Given the description of an element on the screen output the (x, y) to click on. 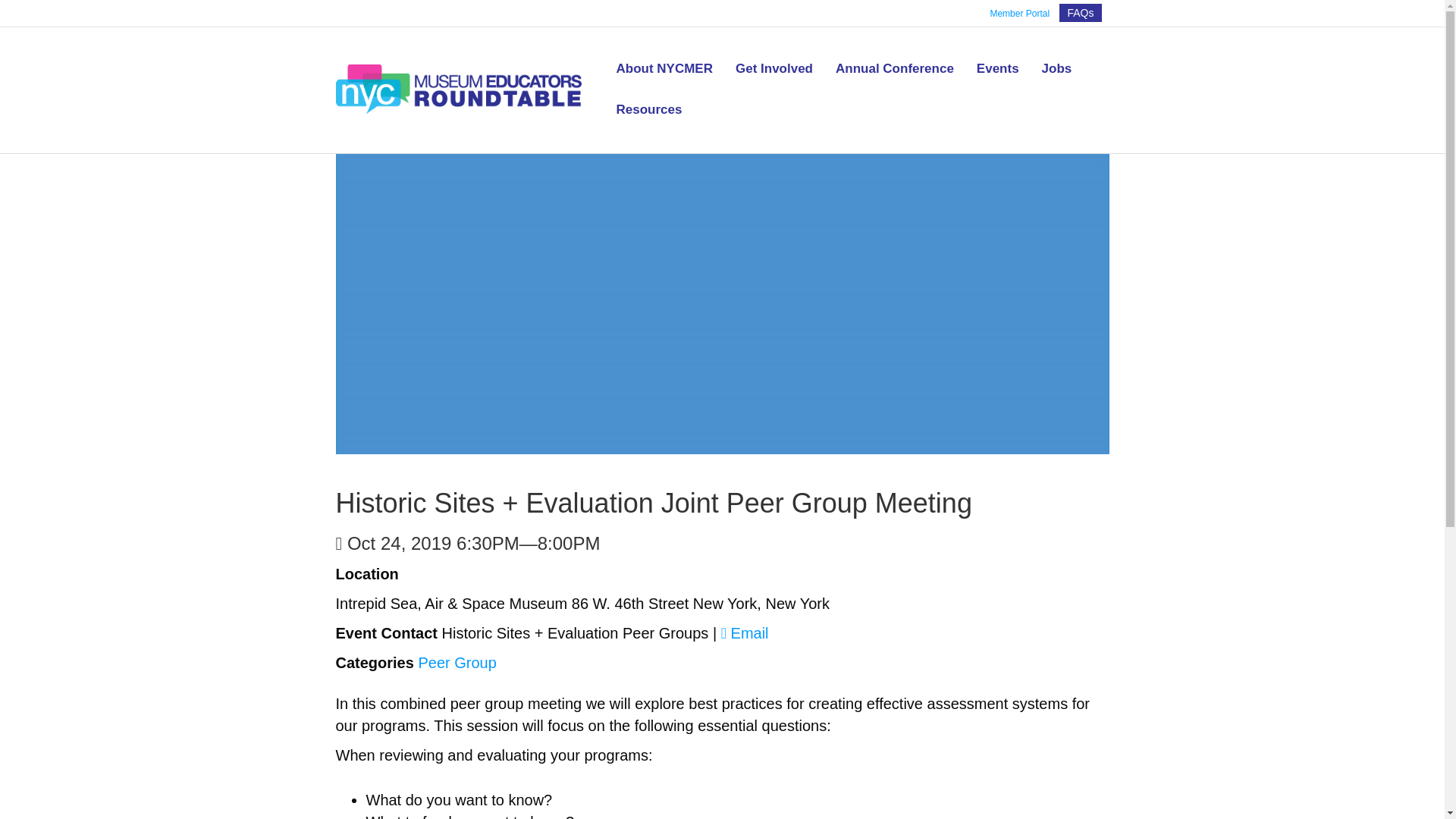
Email (744, 632)
Events (997, 68)
FAQs (1079, 13)
About NYCMER (663, 68)
Annual Conference (894, 68)
Resources (648, 109)
Jobs (1056, 68)
Get Involved (773, 68)
Member Portal (1019, 13)
Peer Group (456, 662)
